Given the description of an element on the screen output the (x, y) to click on. 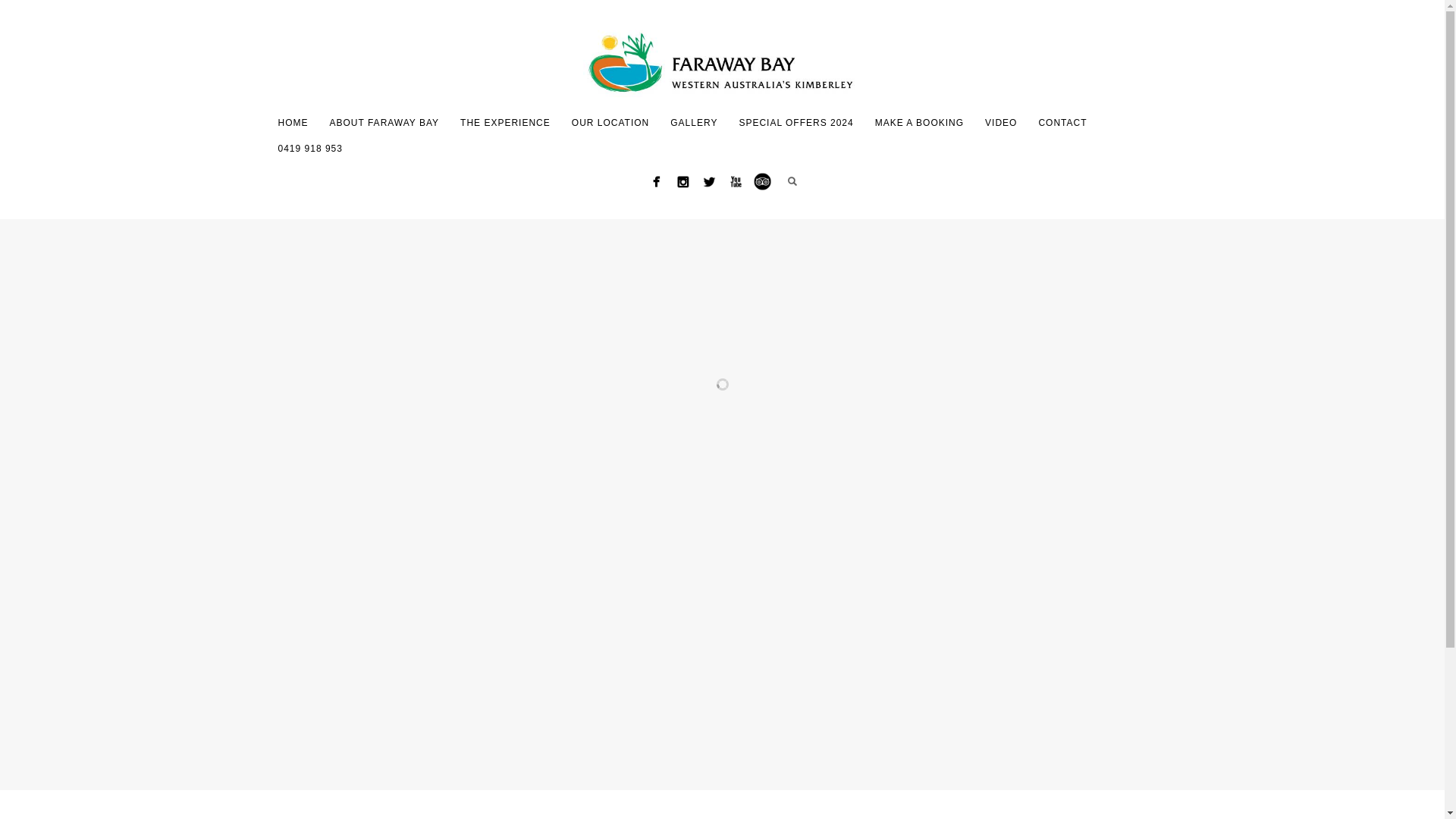
Instagram Element type: hover (682, 181)
OUR LOCATION Element type: text (610, 122)
Facebook Element type: hover (655, 181)
CONTACT Element type: text (1062, 122)
ABOUT FARAWAY BAY Element type: text (383, 122)
Youtube Element type: hover (735, 181)
Tripadvisor Element type: hover (762, 181)
THE EXPERIENCE Element type: text (505, 122)
GALLERY Element type: text (693, 122)
0419 918 953 Element type: text (309, 148)
Twitter Element type: hover (708, 181)
SPECIAL OFFERS 2024 Element type: text (795, 122)
HOME Element type: text (292, 122)
Search Element type: text (792, 181)
MAKE A BOOKING Element type: text (919, 122)
VIDEO Element type: text (1000, 122)
